Given the description of an element on the screen output the (x, y) to click on. 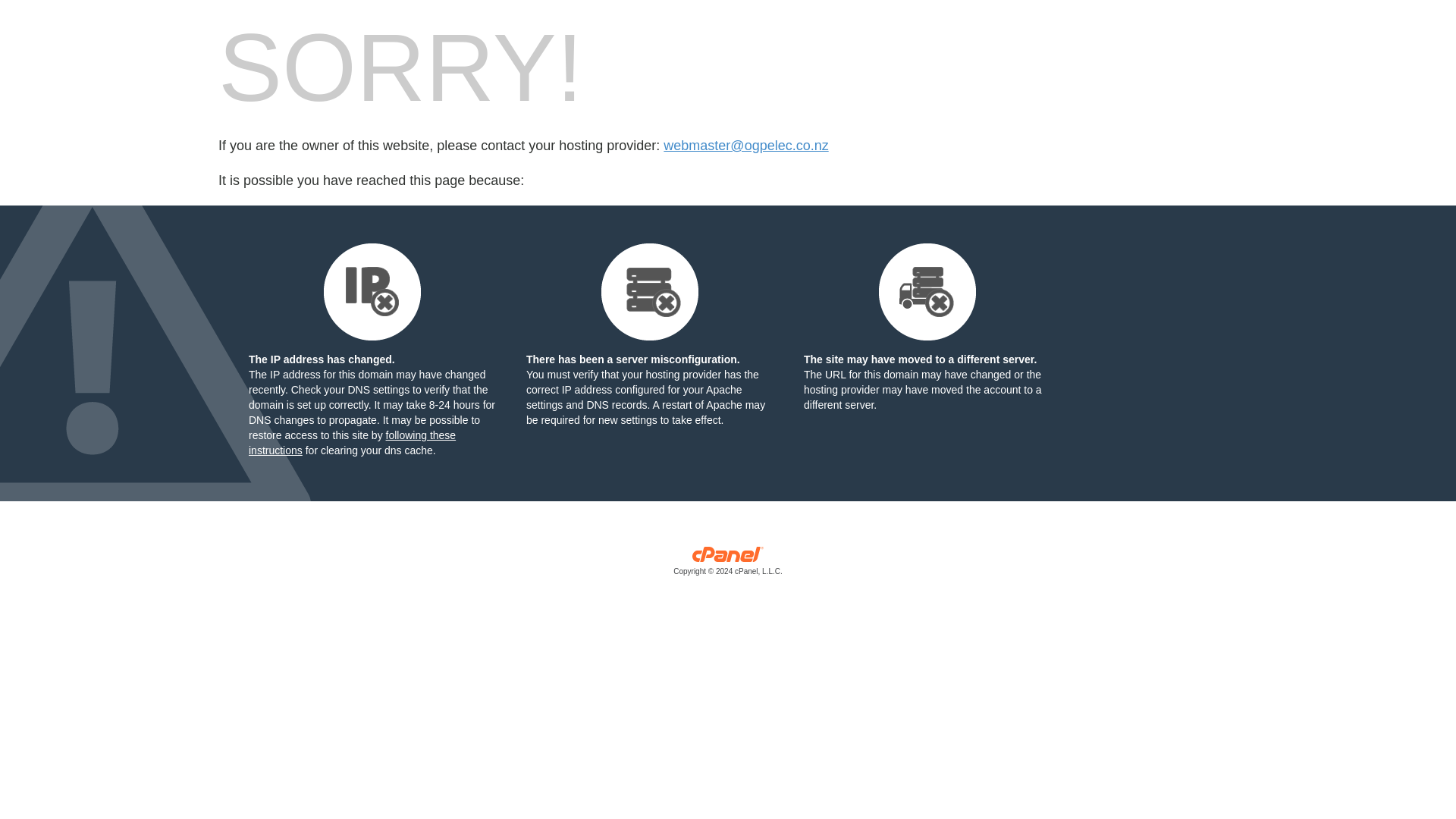
following these instructions (351, 442)
cPanel, L.L.C. (727, 564)
Click this link to contact the host (745, 145)
